Given the description of an element on the screen output the (x, y) to click on. 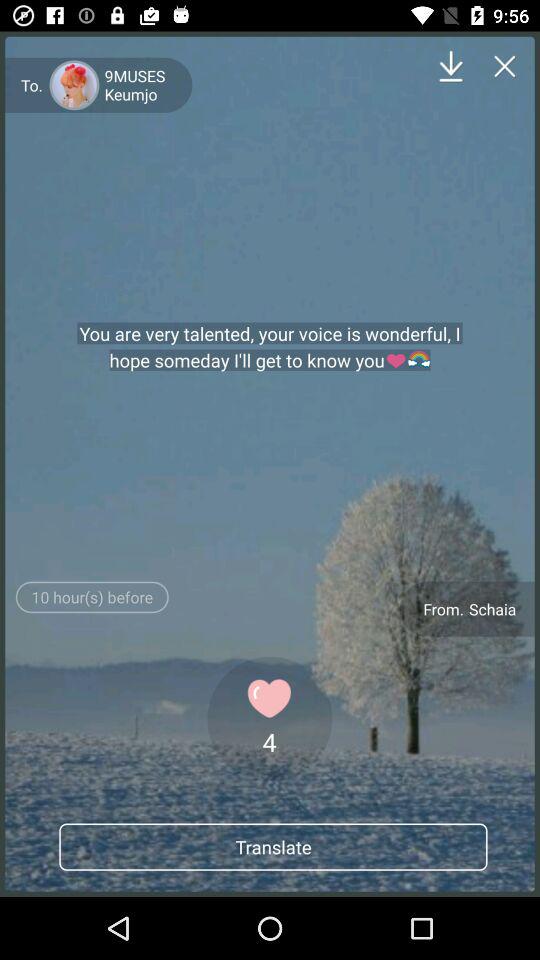
close window (504, 66)
